Given the description of an element on the screen output the (x, y) to click on. 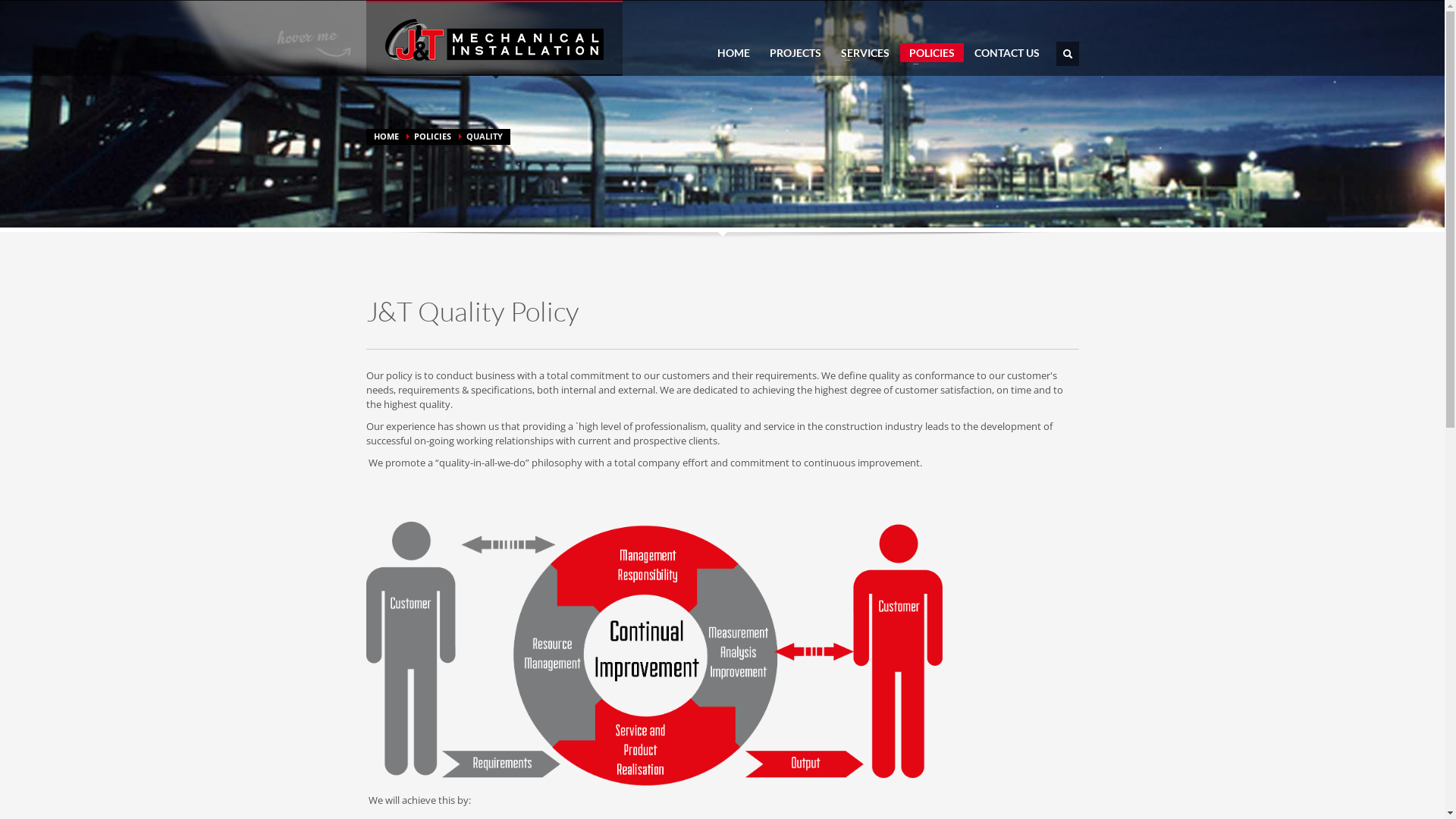
POLICIES Element type: text (432, 135)
PROJECTS Element type: text (794, 52)
HOME Element type: text (385, 135)
CONTACT US Element type: text (1006, 52)
HOME Element type: text (733, 52)
Click to return to J&T homepage Element type: hover (494, 39)
